Given the description of an element on the screen output the (x, y) to click on. 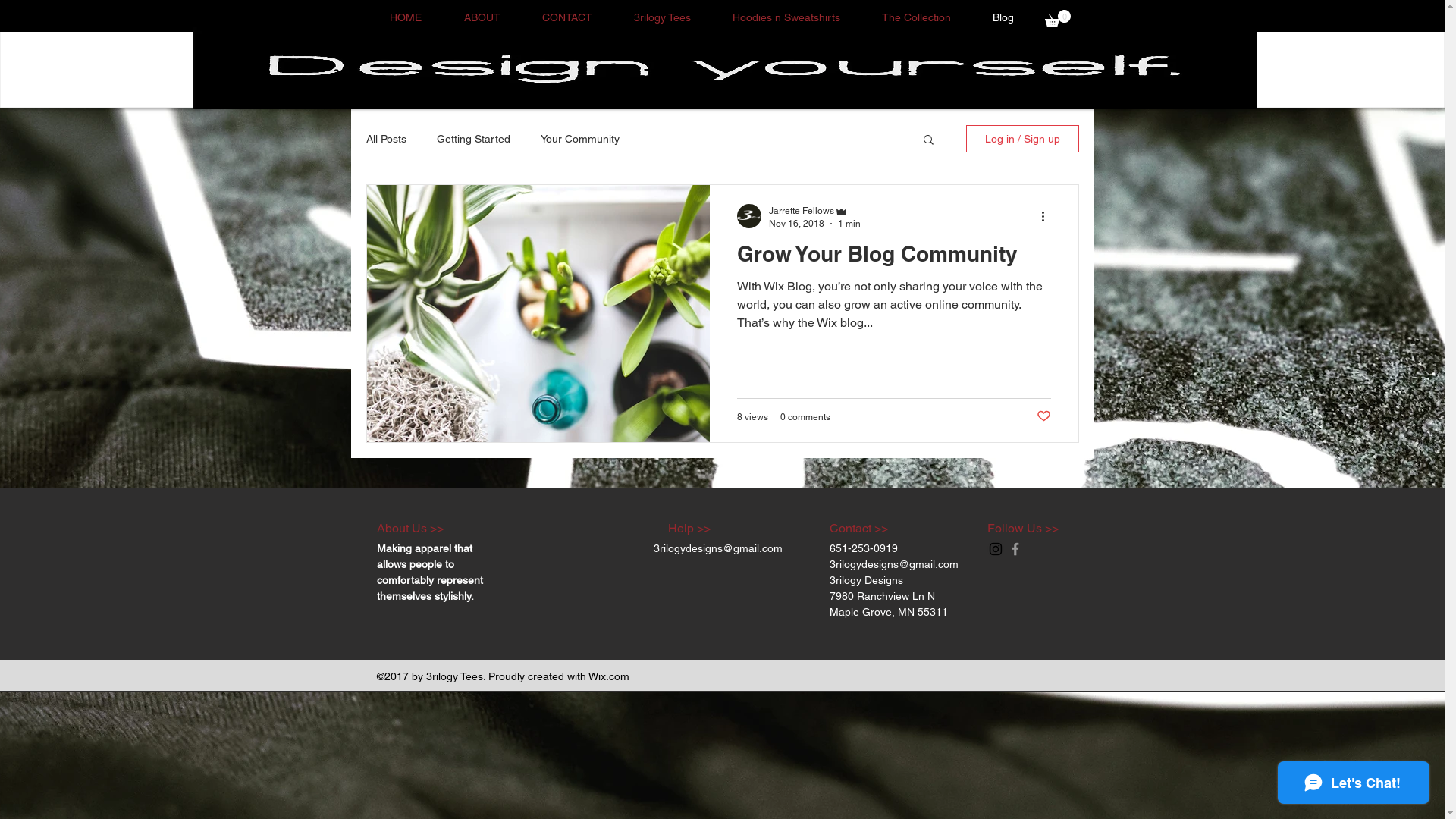
The Collection Element type: text (916, 17)
Getting Started Element type: text (473, 138)
Grow Your Blog Community Element type: text (894, 257)
0 Element type: text (1057, 18)
About Us >> Element type: text (409, 527)
Your Community Element type: text (578, 138)
Hoodies n Sweatshirts Element type: text (785, 17)
Blog Element type: text (1003, 17)
3rilogydesigns@gmail.com Element type: text (893, 564)
All Posts Element type: text (385, 138)
CONTACT Element type: text (567, 17)
ABOUT Element type: text (481, 17)
HOME Element type: text (405, 17)
Log in / Sign up Element type: text (1022, 138)
0 comments Element type: text (804, 416)
Wix.com Element type: text (608, 676)
3rilogydesigns@gmail.com Element type: text (717, 548)
Post not marked as liked Element type: text (1042, 416)
3rilogy Tees Element type: text (661, 17)
